Given the description of an element on the screen output the (x, y) to click on. 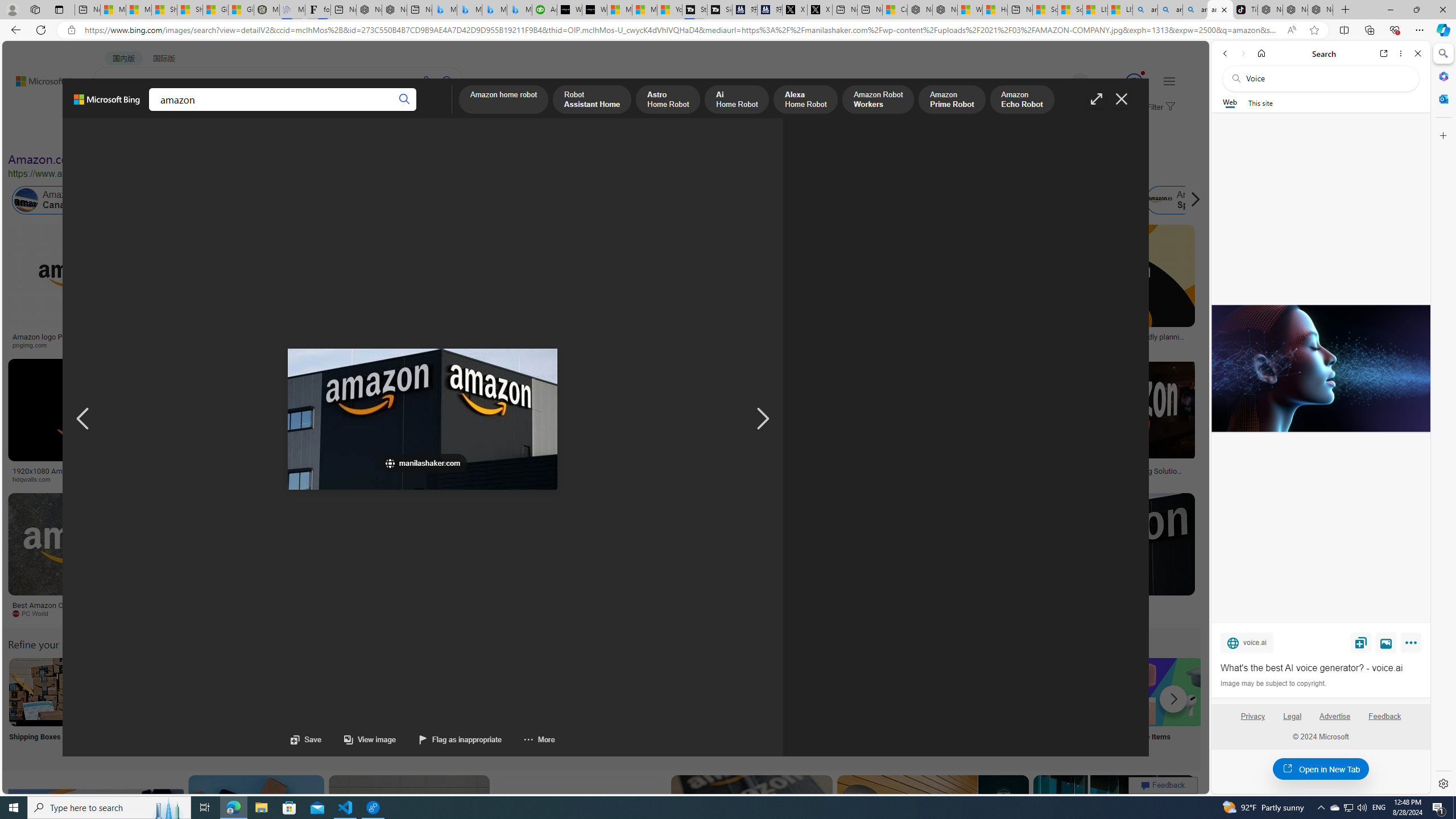
Amazon Spain (1159, 200)
thewrap.com (470, 612)
WEB (114, 111)
Long Island Press (593, 479)
Amazon Jobs Near Me Jobs Near Me (342, 706)
logopng.com.br (783, 344)
